Given the description of an element on the screen output the (x, y) to click on. 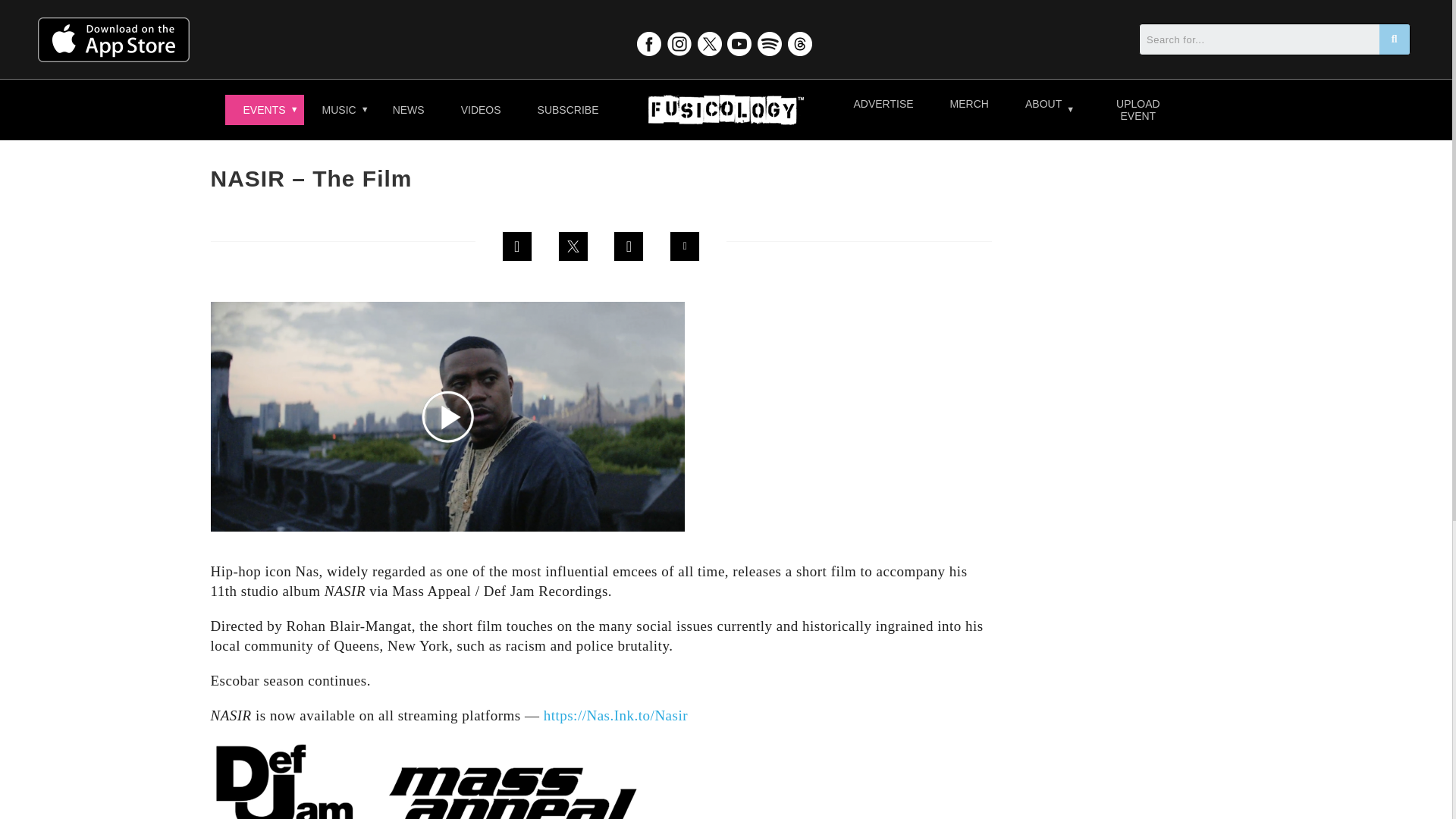
Click to share this post on Linkedin (627, 245)
Click to share this post on Twitter (572, 245)
Click to share this post via Email (684, 245)
Click to share this post on Facebook (517, 245)
